Given the description of an element on the screen output the (x, y) to click on. 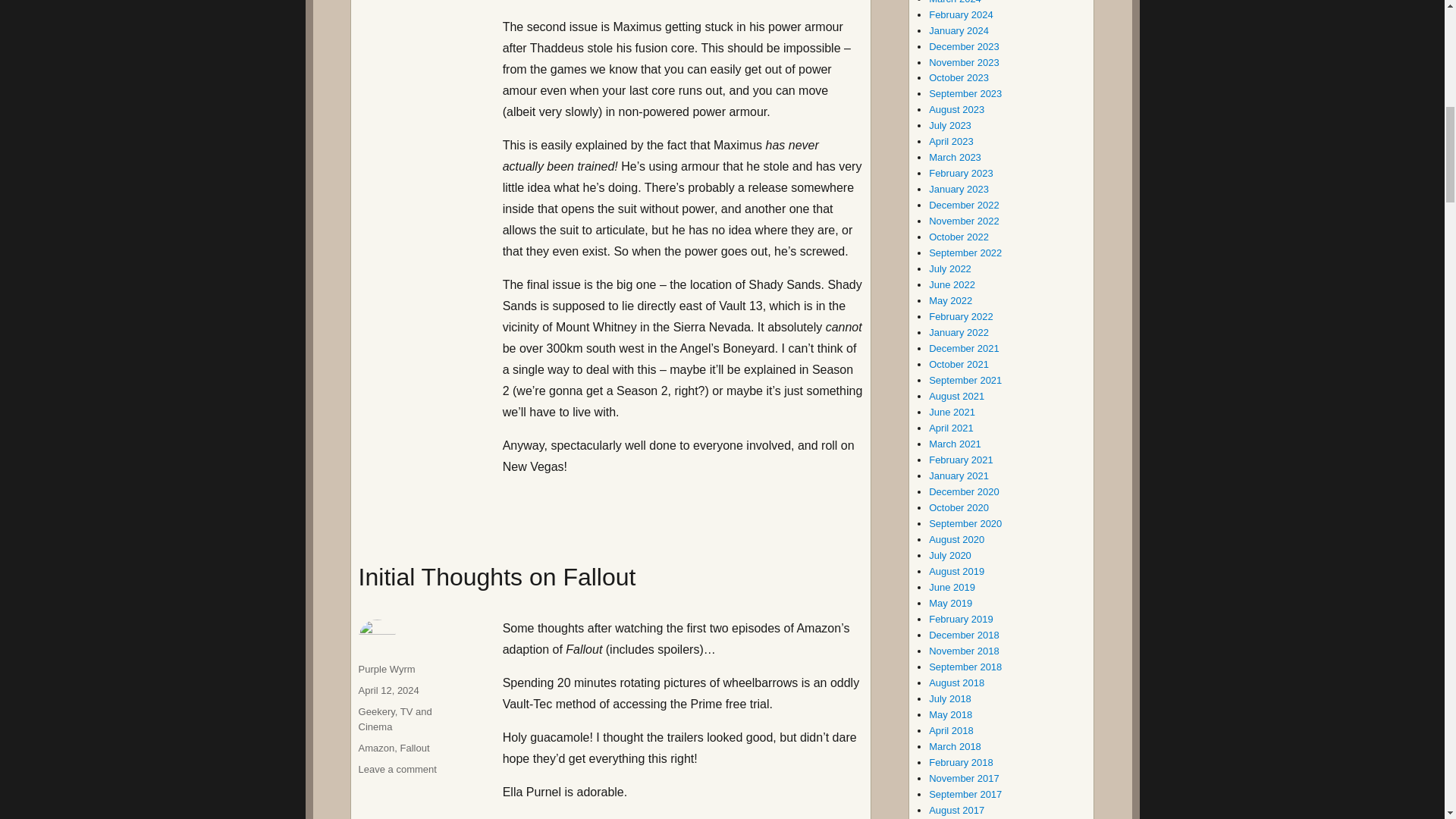
Geekery (397, 768)
Fallout (376, 710)
Amazon (414, 747)
Purple Wyrm (376, 747)
TV and Cinema (386, 668)
Initial Thoughts on Fallout (395, 718)
April 12, 2024 (497, 576)
